Given the description of an element on the screen output the (x, y) to click on. 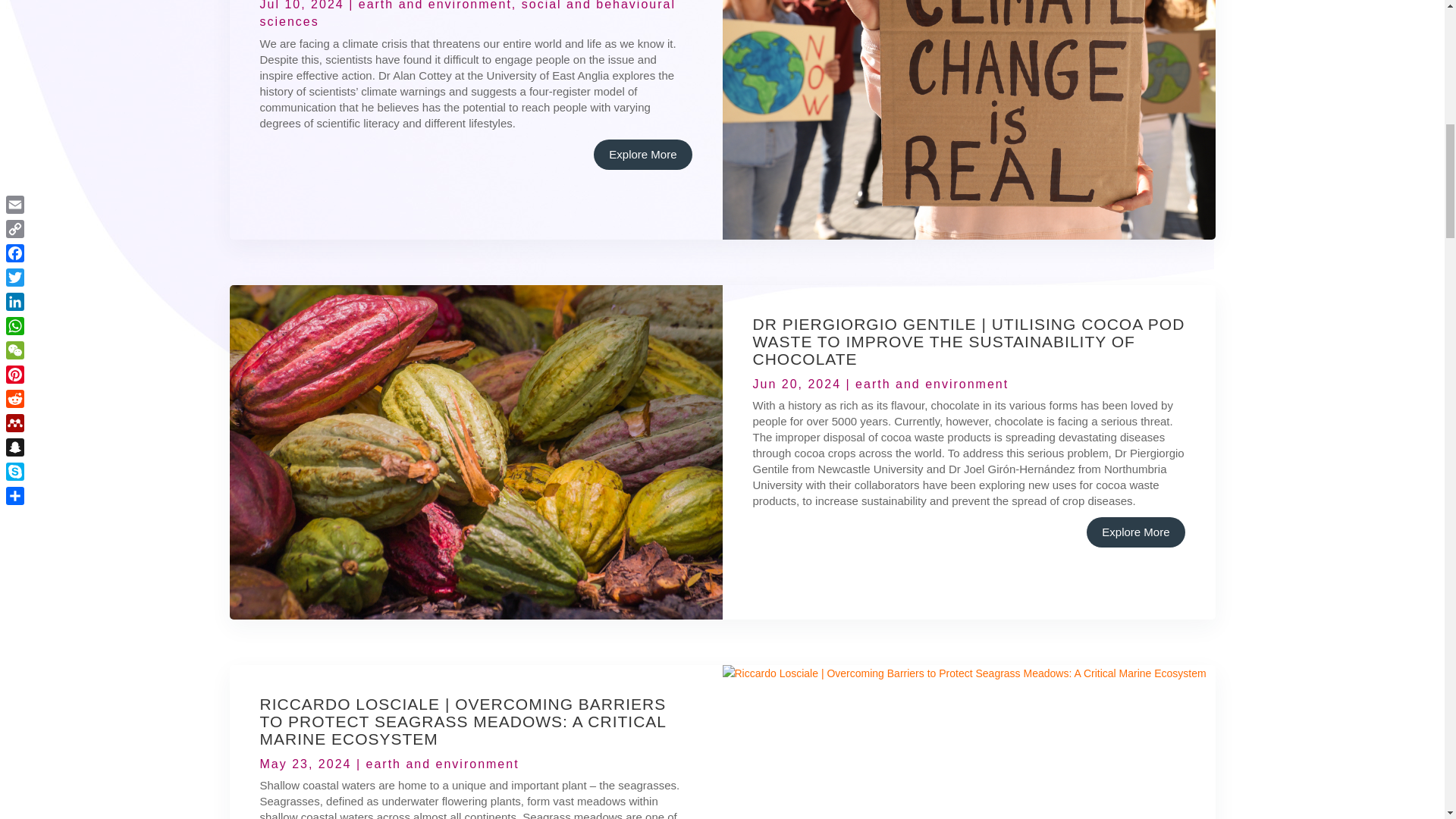
earth and environment (435, 5)
